Given the description of an element on the screen output the (x, y) to click on. 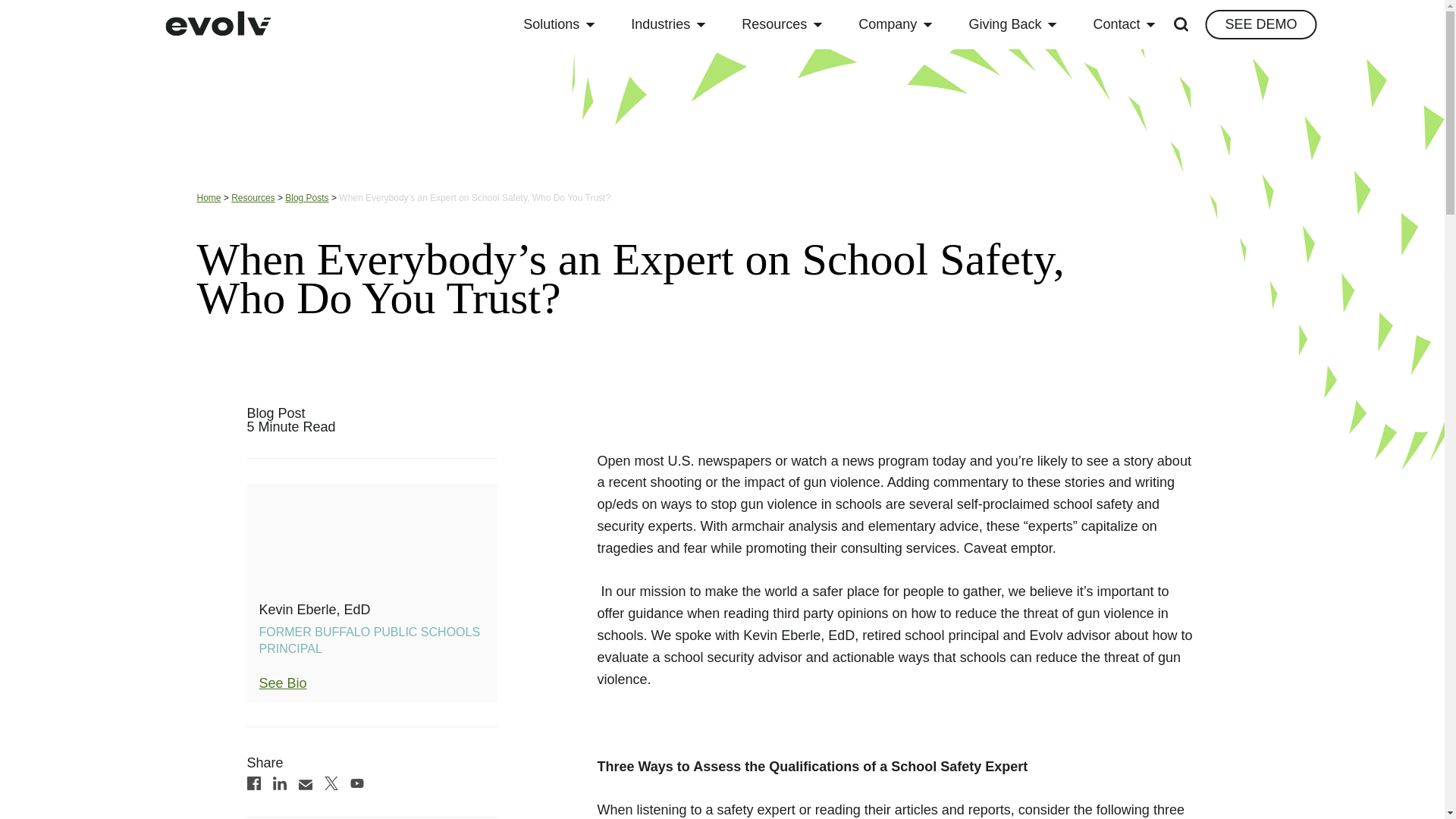
Resources (781, 24)
Company (895, 24)
Giving Back (1012, 24)
Solutions (558, 24)
Industries (667, 24)
